Given the description of an element on the screen output the (x, y) to click on. 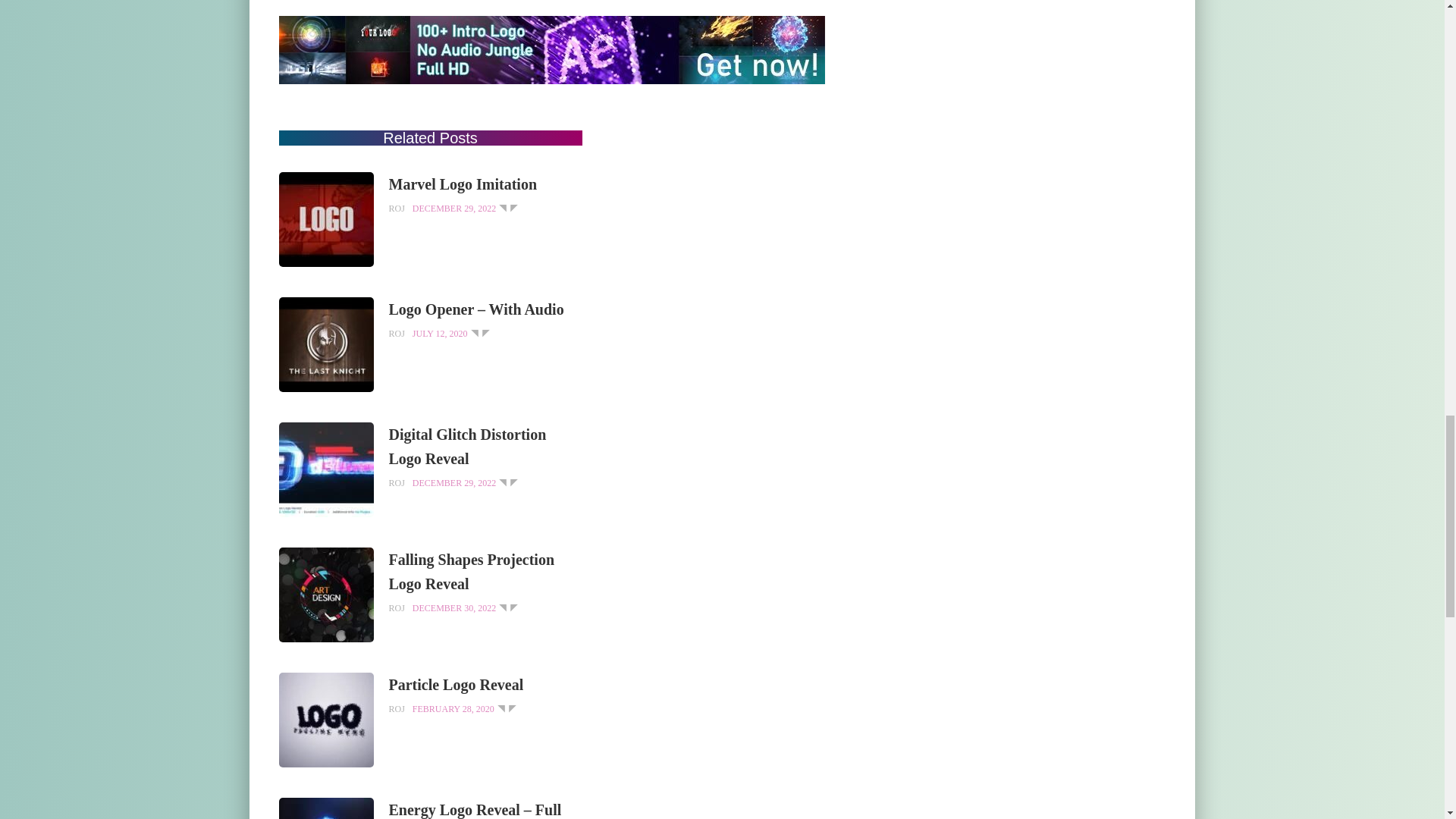
Posts by ROJ (396, 208)
Posts by ROJ (396, 482)
Logo Project (507, 208)
Marvel Logo Imitation (484, 183)
Digital Glitch Distortion Logo Reveal (484, 445)
Logo Project (480, 332)
Digital Glitch Distortion Logo Reveal (326, 468)
Posts by ROJ (396, 332)
Marvel Logo Imitation (326, 218)
